Given the description of an element on the screen output the (x, y) to click on. 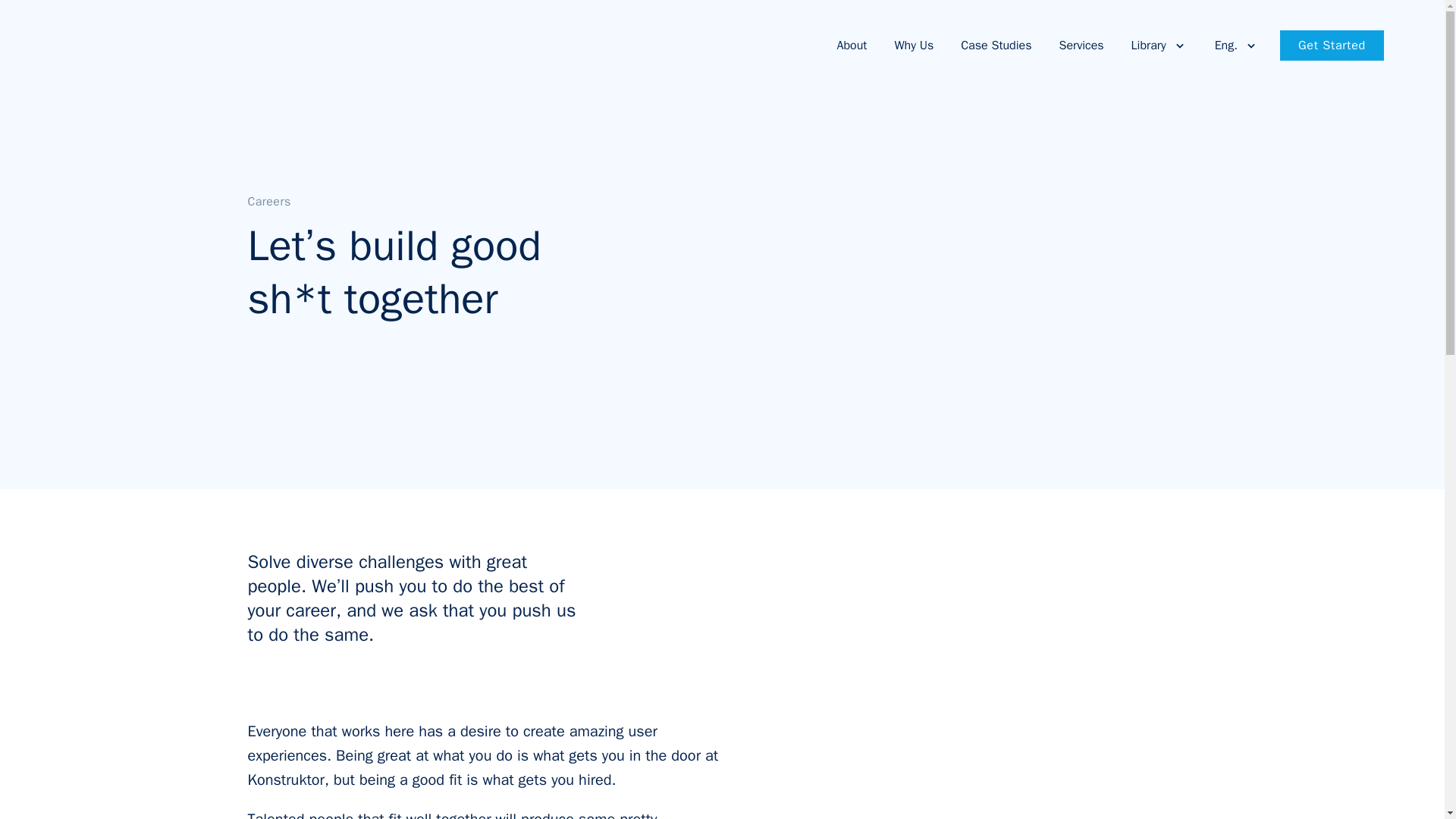
Konstruktor (121, 45)
Eng. (1232, 45)
About (849, 45)
Services (1076, 45)
Library (1154, 45)
Get Started (1331, 45)
Case Studies (990, 45)
Why Us (909, 45)
